Given the description of an element on the screen output the (x, y) to click on. 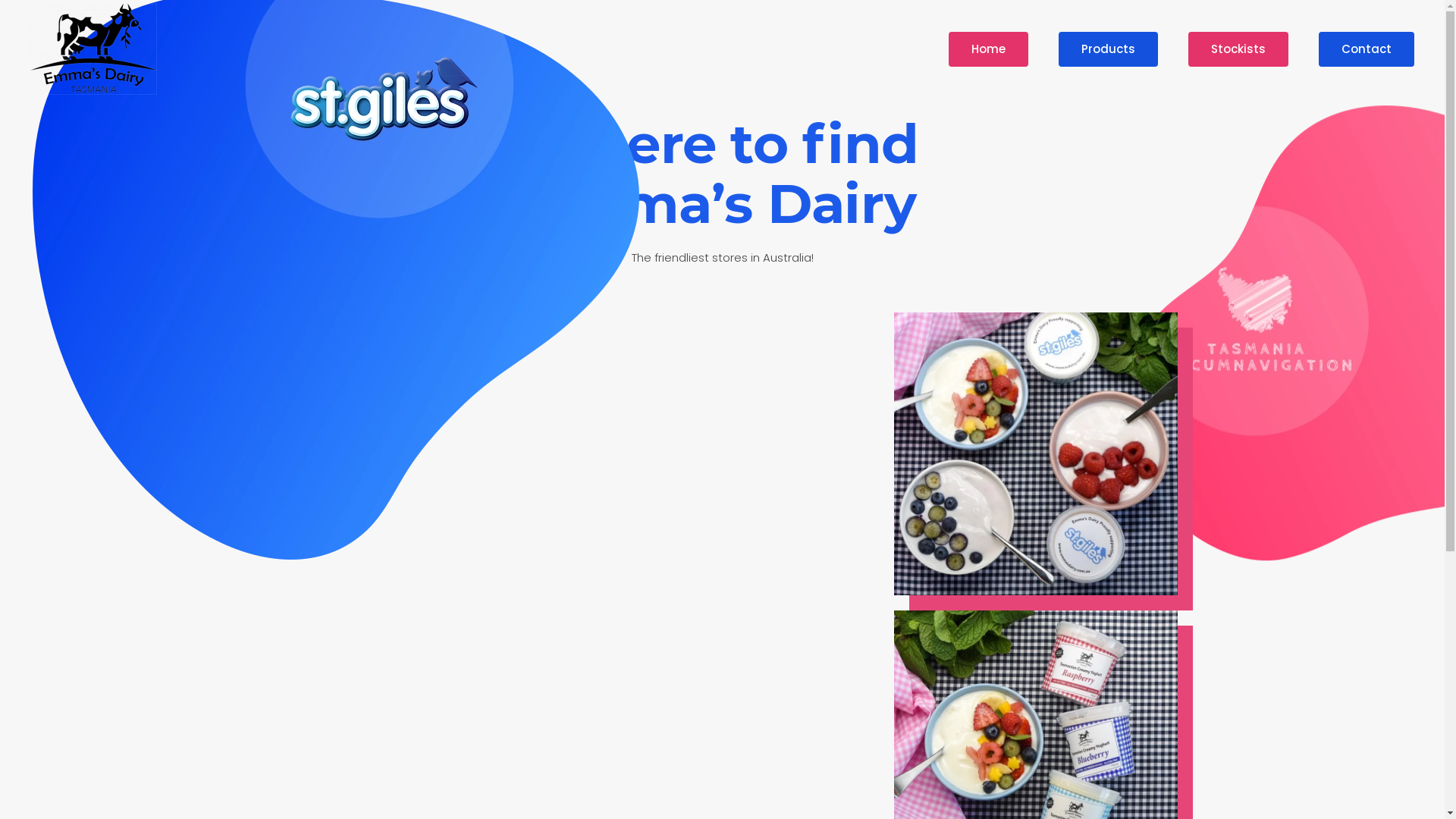
Home Element type: text (988, 48)
Products Element type: text (1107, 48)
Contact Element type: text (1366, 48)
Stockists Element type: text (1238, 48)
